Given the description of an element on the screen output the (x, y) to click on. 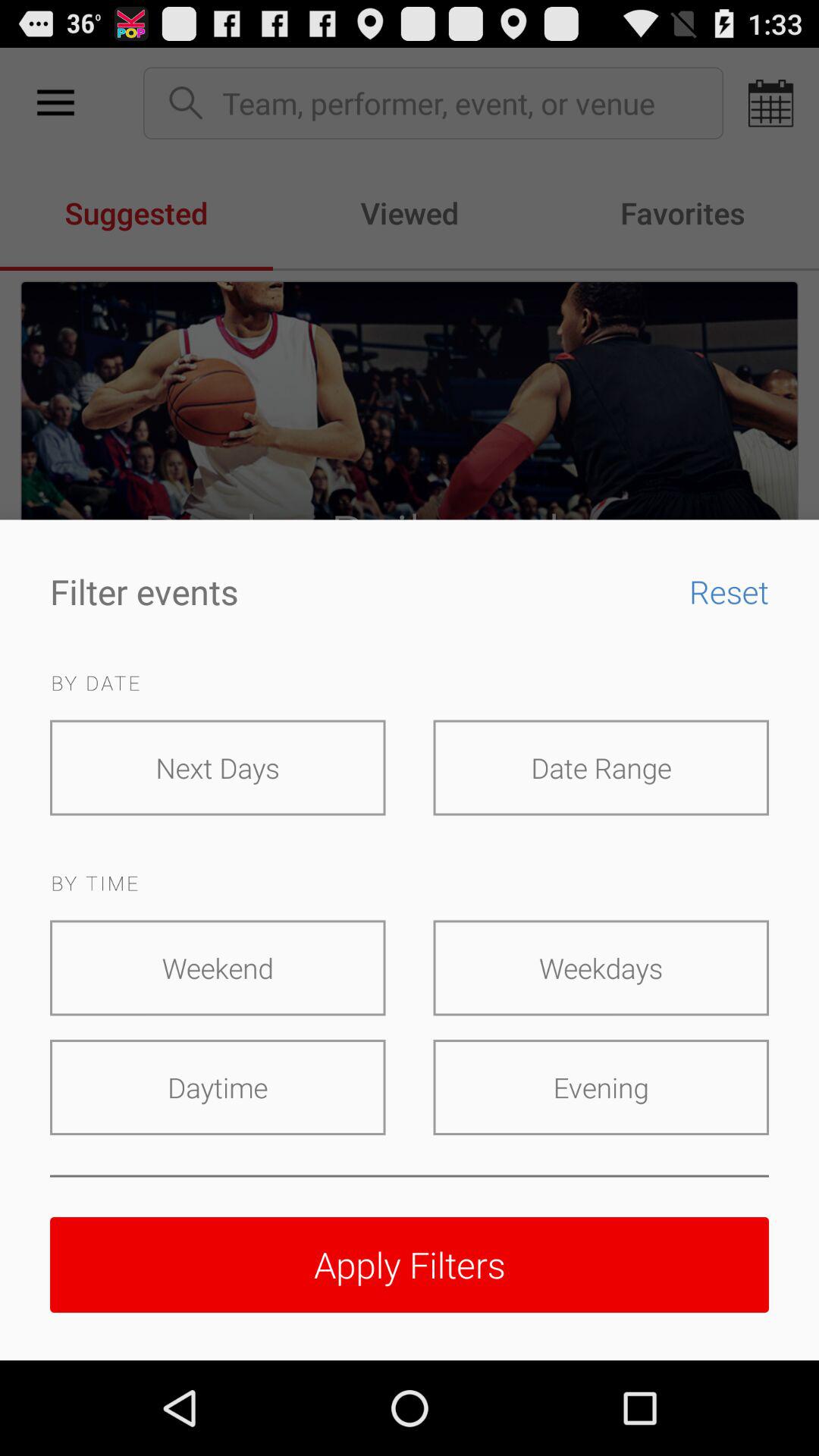
click the item to the left of date range item (217, 767)
